Given the description of an element on the screen output the (x, y) to click on. 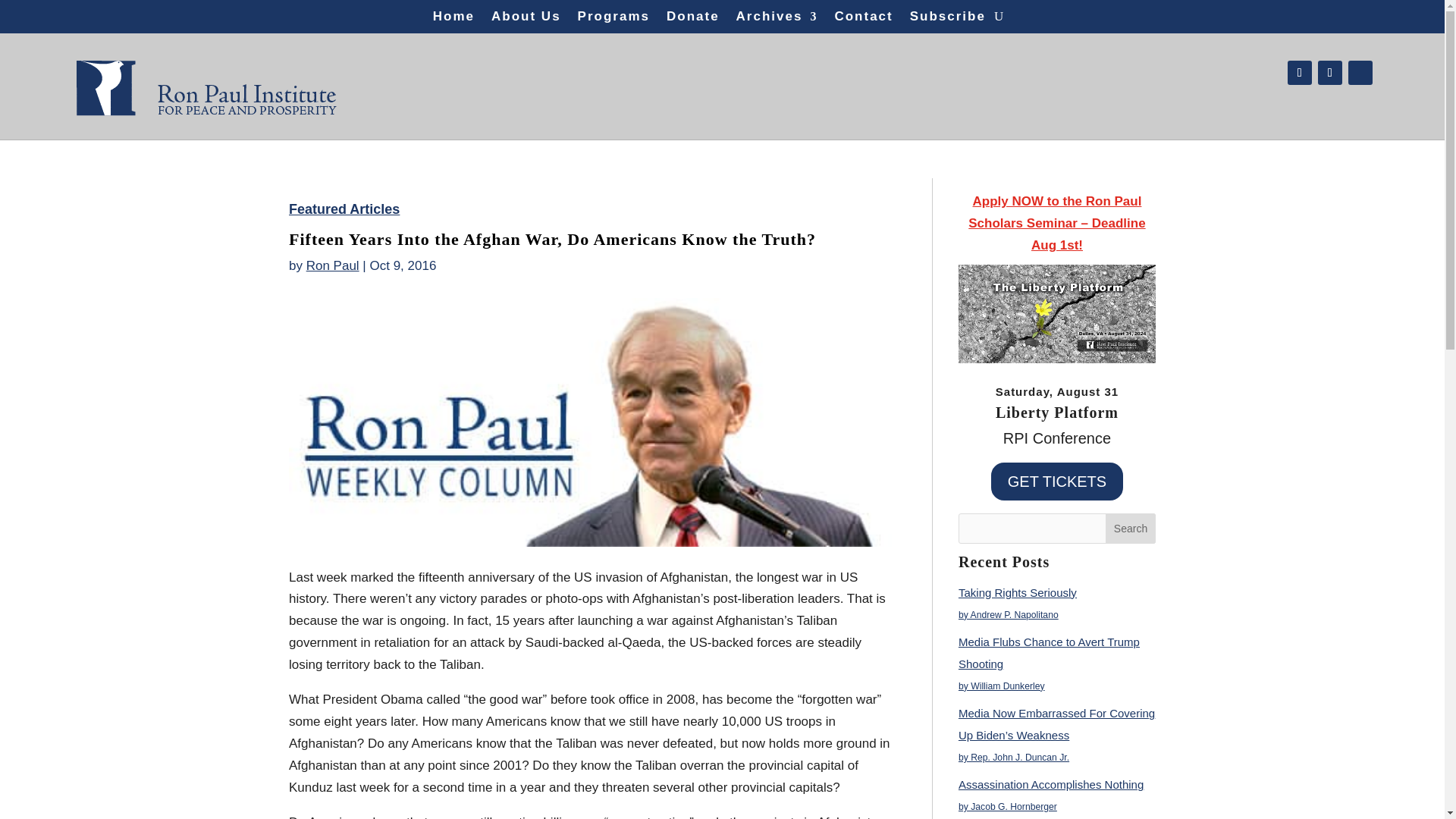
Posts by Ron Paul (332, 265)
GET TICKETS (1056, 481)
Ron Paul (332, 265)
About Us (526, 19)
Featured Articles (343, 209)
Follow on X (1329, 72)
Programs (613, 19)
Contact (863, 19)
Home (453, 19)
rpilogo-final (206, 81)
Subscribe (947, 19)
Follow on Facebook (1299, 72)
Search (1130, 528)
Archives (777, 19)
Donate (692, 19)
